Given the description of an element on the screen output the (x, y) to click on. 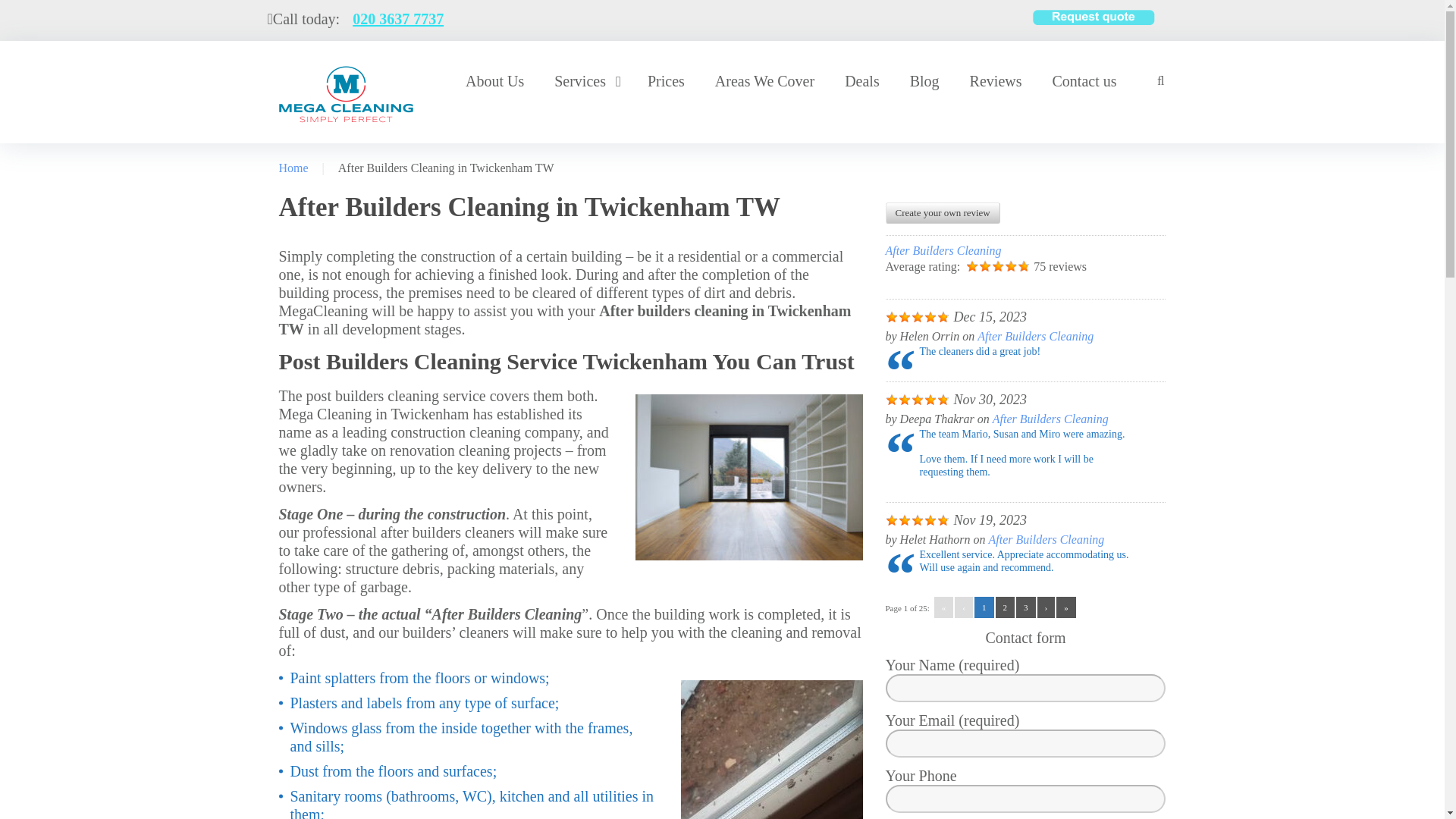
Deals (861, 81)
Contact us (1084, 81)
efficient post-builders cleaning (748, 476)
Blog (924, 81)
About Us (494, 81)
After Builders Cleaning (1034, 336)
After Builders Cleaning (1050, 418)
Home (293, 167)
Areas We Cover (764, 81)
After Builders Cleaning (1045, 539)
Prices (666, 81)
020 3637 7737 (398, 18)
Services (585, 81)
